Given the description of an element on the screen output the (x, y) to click on. 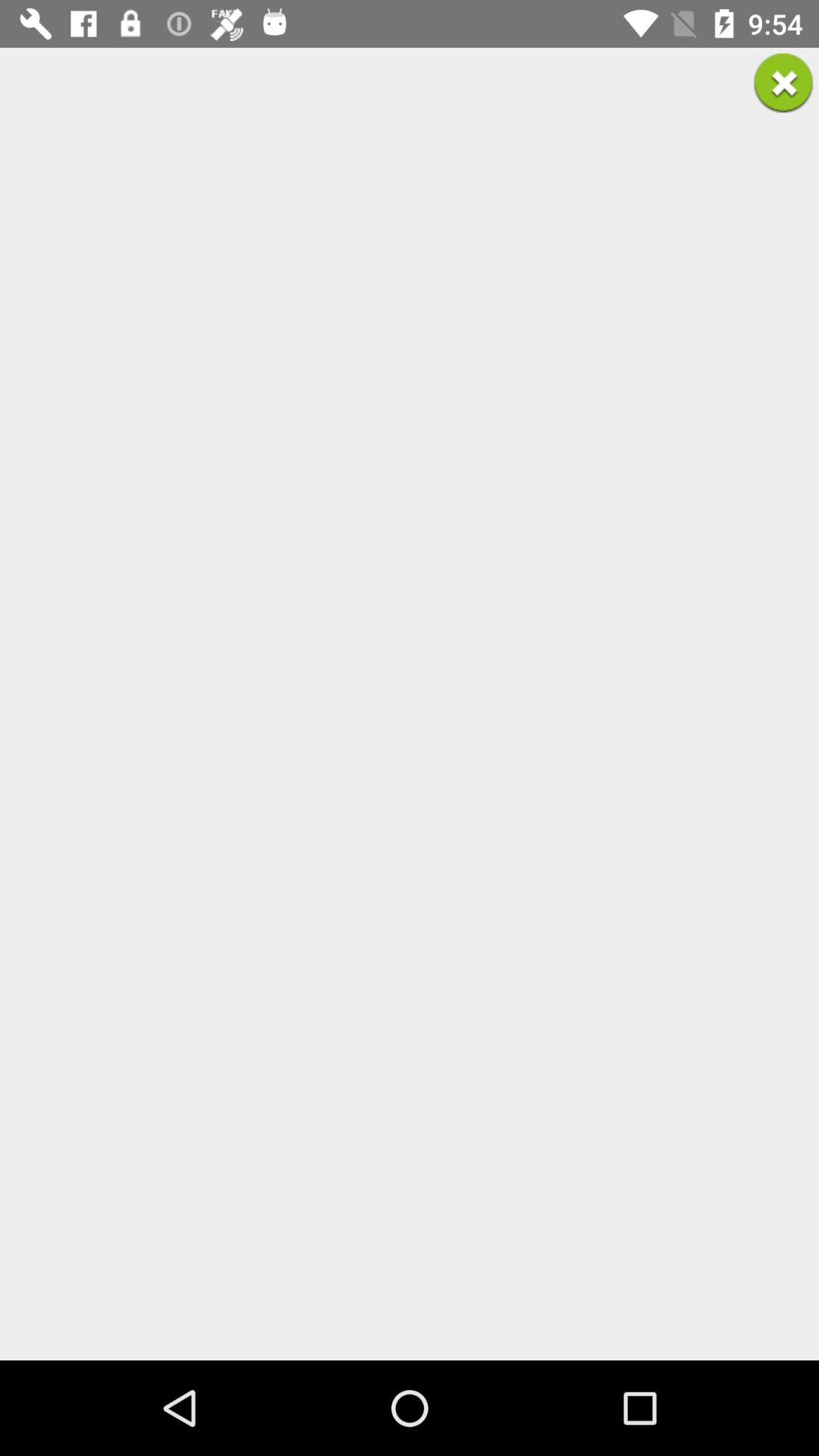
press the icon at the center (409, 703)
